Given the description of an element on the screen output the (x, y) to click on. 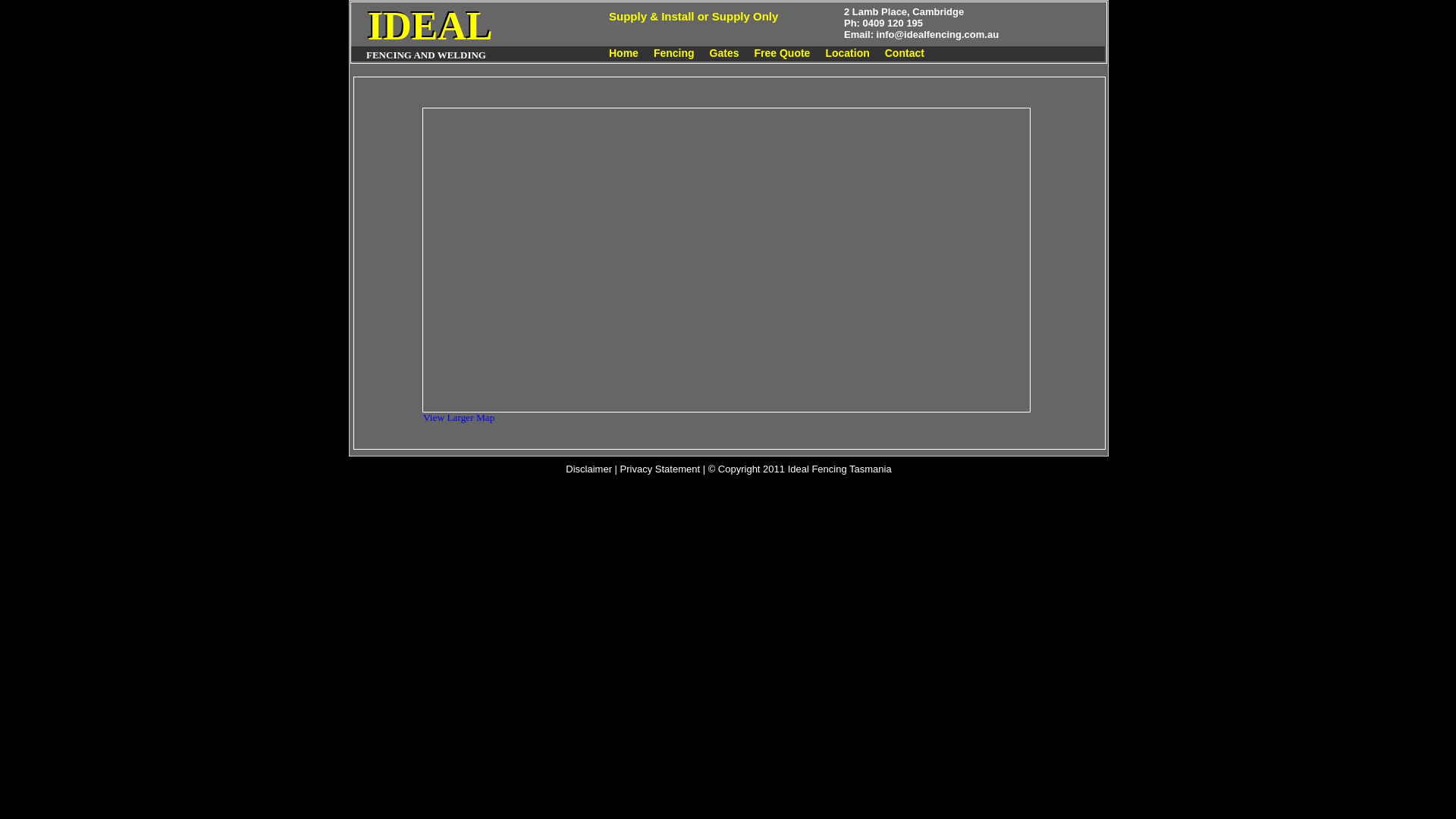
Fencing Element type: text (674, 52)
Location Element type: text (846, 52)
Free Quote Element type: text (781, 52)
Home Element type: text (623, 52)
Gates Element type: text (724, 52)
Contact Element type: text (904, 52)
View Larger Map Element type: text (458, 417)
